Given the description of an element on the screen output the (x, y) to click on. 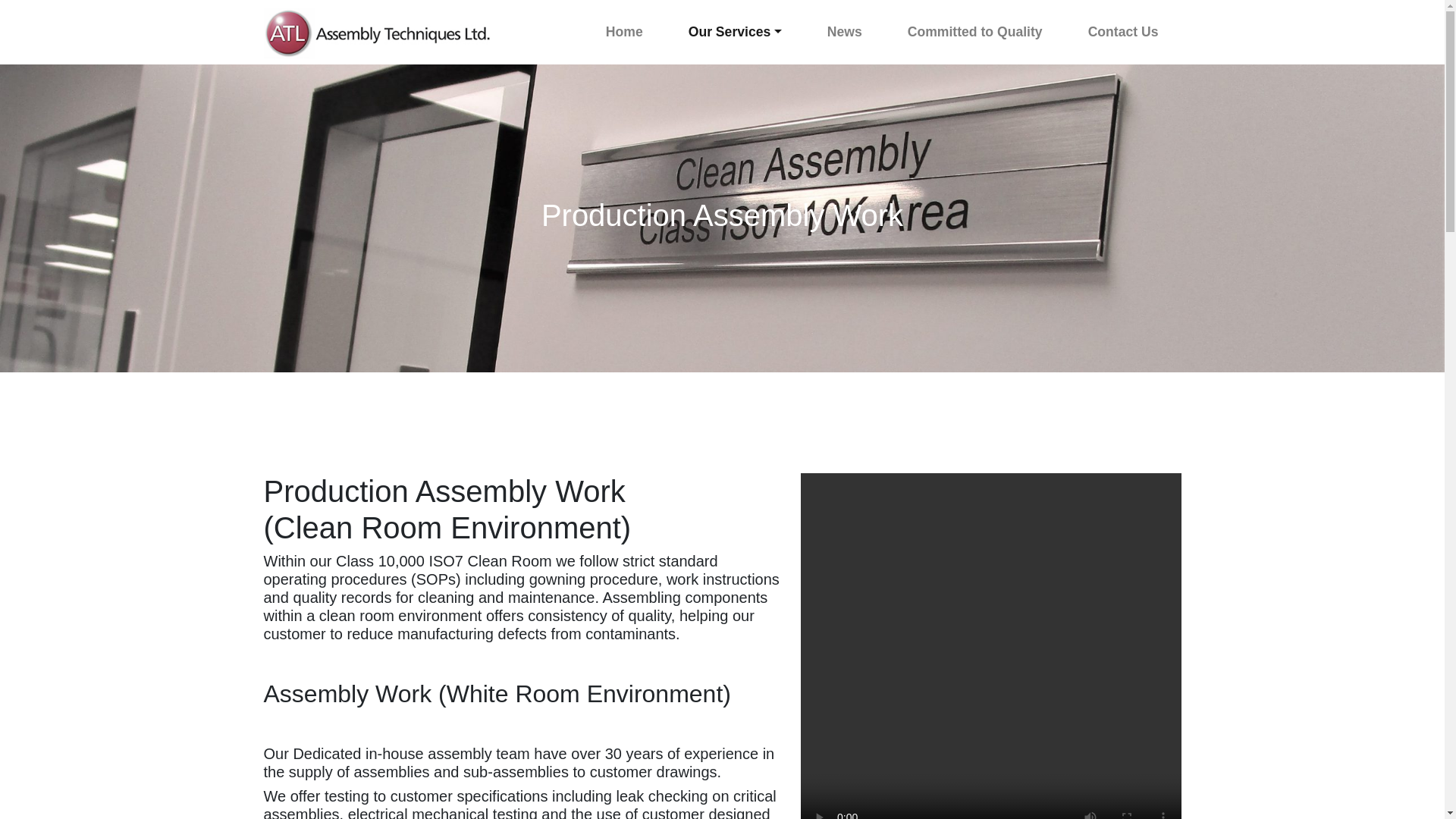
Home (624, 31)
Our Services (735, 31)
Contact Us (1122, 31)
Committed to Quality (975, 31)
Home (624, 31)
Contact Us (1122, 31)
News (845, 31)
Committed to Quality (975, 31)
Our Services (735, 31)
News (845, 31)
